Given the description of an element on the screen output the (x, y) to click on. 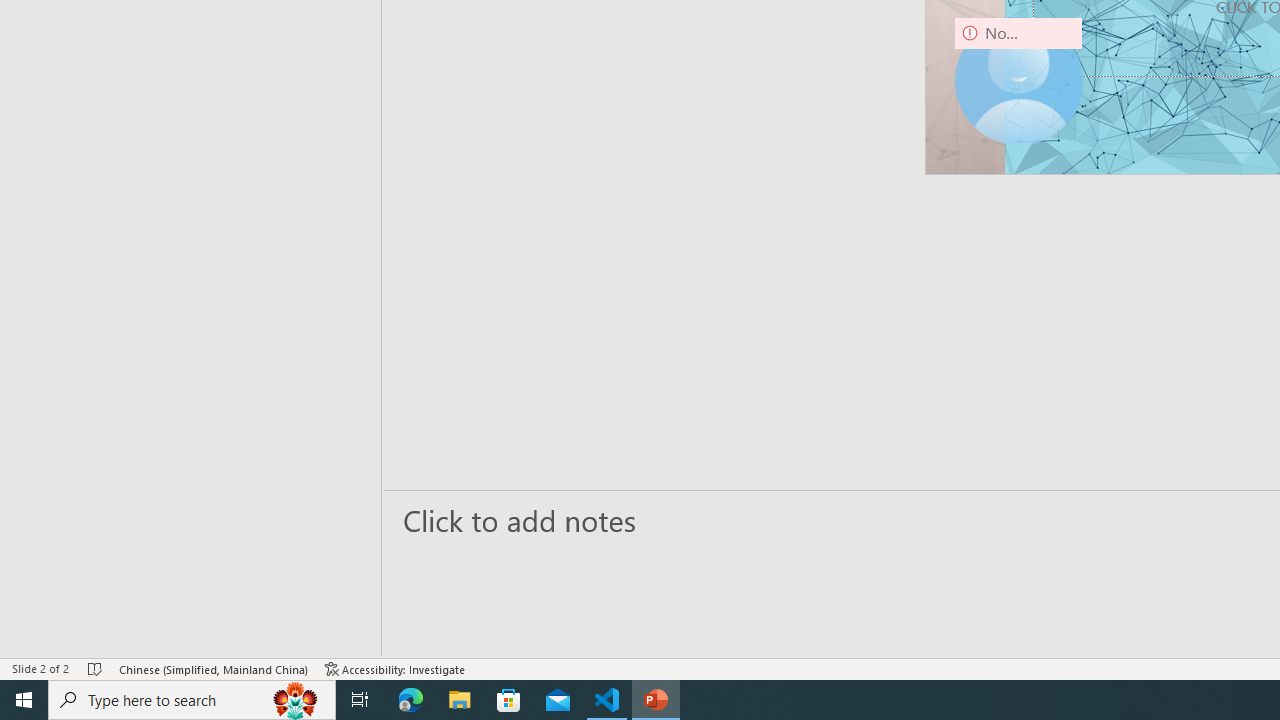
Camera 9, No camera detected. (1018, 80)
